Given the description of an element on the screen output the (x, y) to click on. 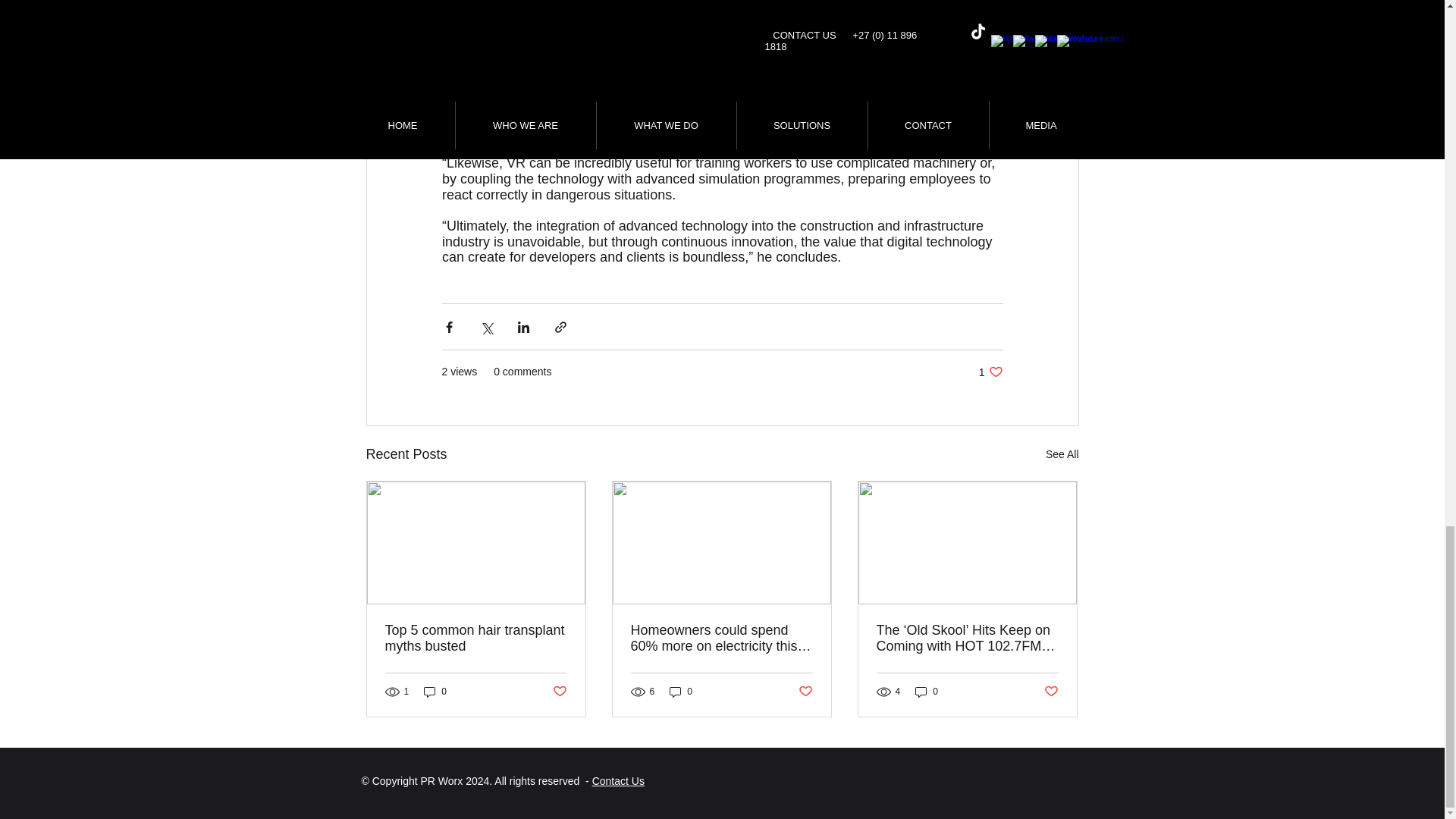
Contact Us (618, 780)
Post not marked as liked (558, 691)
0 (681, 691)
0 (435, 691)
Post not marked as liked (1050, 691)
Top 5 common hair transplant myths busted (476, 638)
See All (1061, 454)
Post not marked as liked (990, 371)
0 (804, 691)
